Given the description of an element on the screen output the (x, y) to click on. 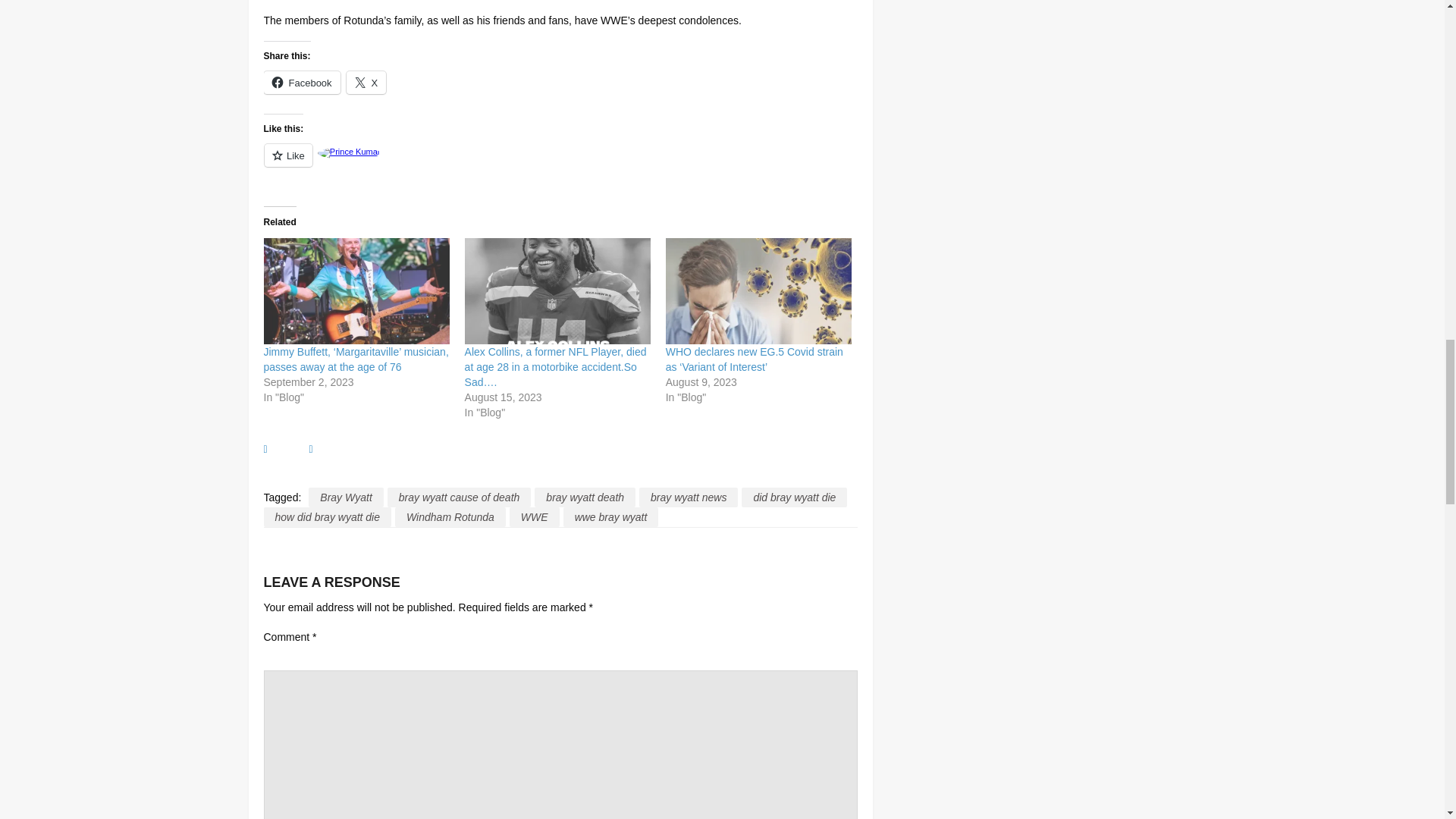
bray wyatt news (688, 496)
Click to share on Facebook (301, 82)
Like or Reblog (560, 164)
WWE (534, 516)
Click to share on X (366, 82)
bray wyatt cause of death (459, 496)
Windham Rotunda (449, 516)
Bray Wyatt (345, 496)
did bray wyatt die (794, 496)
wwe bray wyatt (611, 516)
Facebook (301, 82)
X (366, 82)
how did bray wyatt die (327, 516)
bray wyatt death (584, 496)
